Given the description of an element on the screen output the (x, y) to click on. 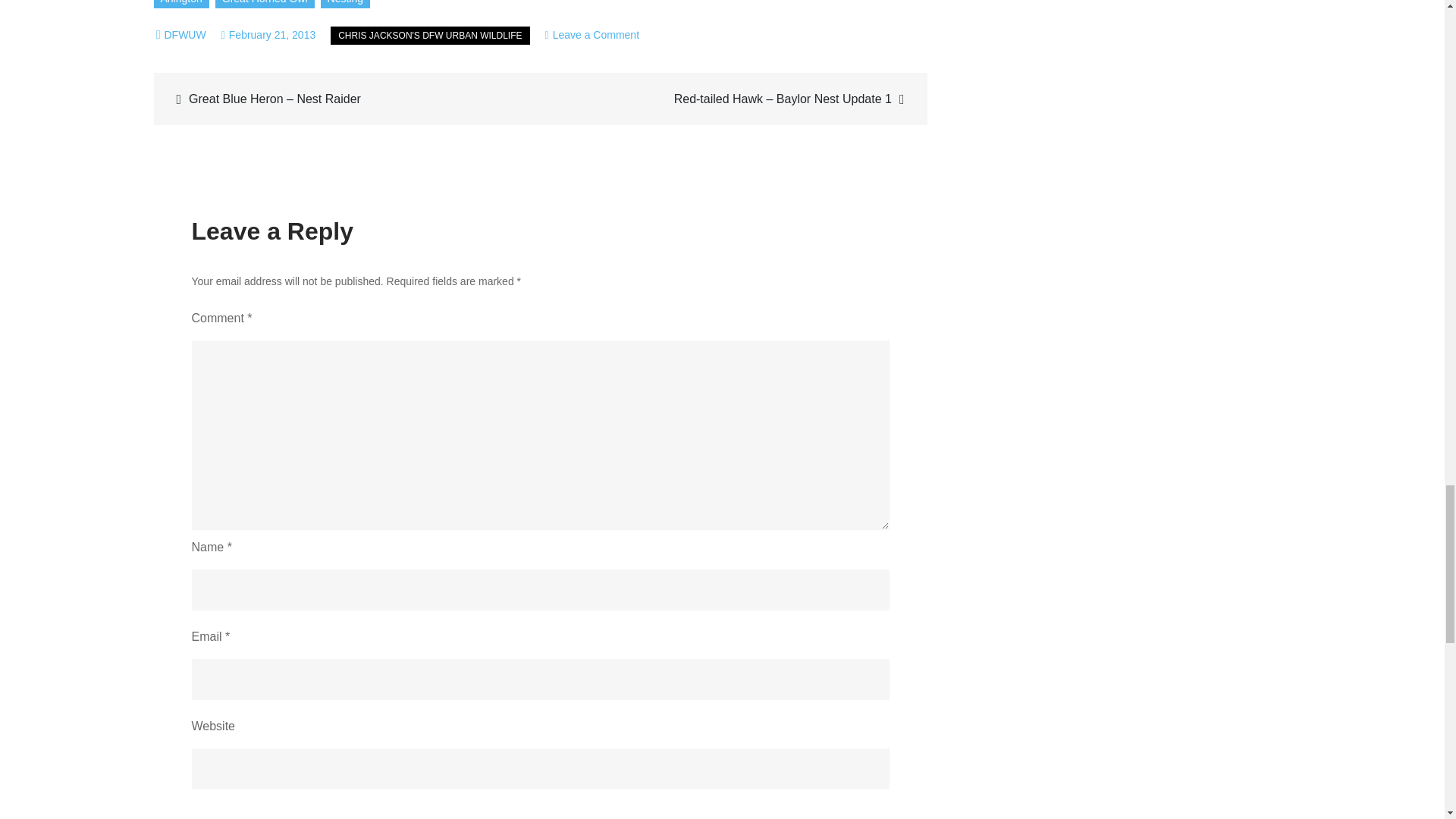
February 21, 2013 (268, 34)
Arlington (180, 4)
Great Horned Owl (264, 4)
CHRIS JACKSON'S DFW URBAN WILDLIFE (429, 35)
DFWUW (184, 34)
Nesting (344, 4)
